Given the description of an element on the screen output the (x, y) to click on. 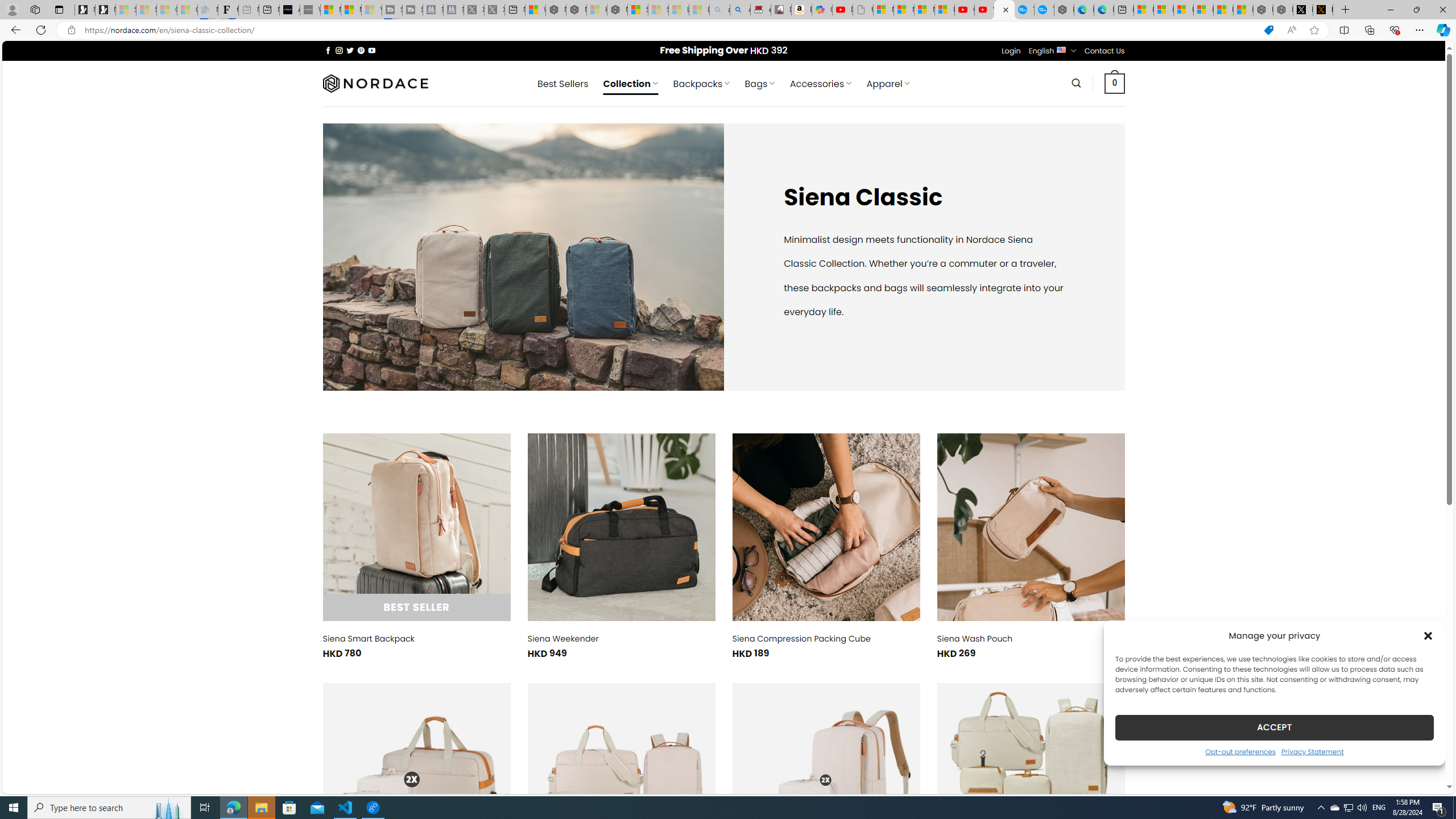
Microsoft account | Privacy (1203, 9)
Nordace - Siena Classic Collection (1004, 9)
 0  (1115, 83)
Untitled (862, 9)
Opt-out preferences (1240, 750)
